Given the description of an element on the screen output the (x, y) to click on. 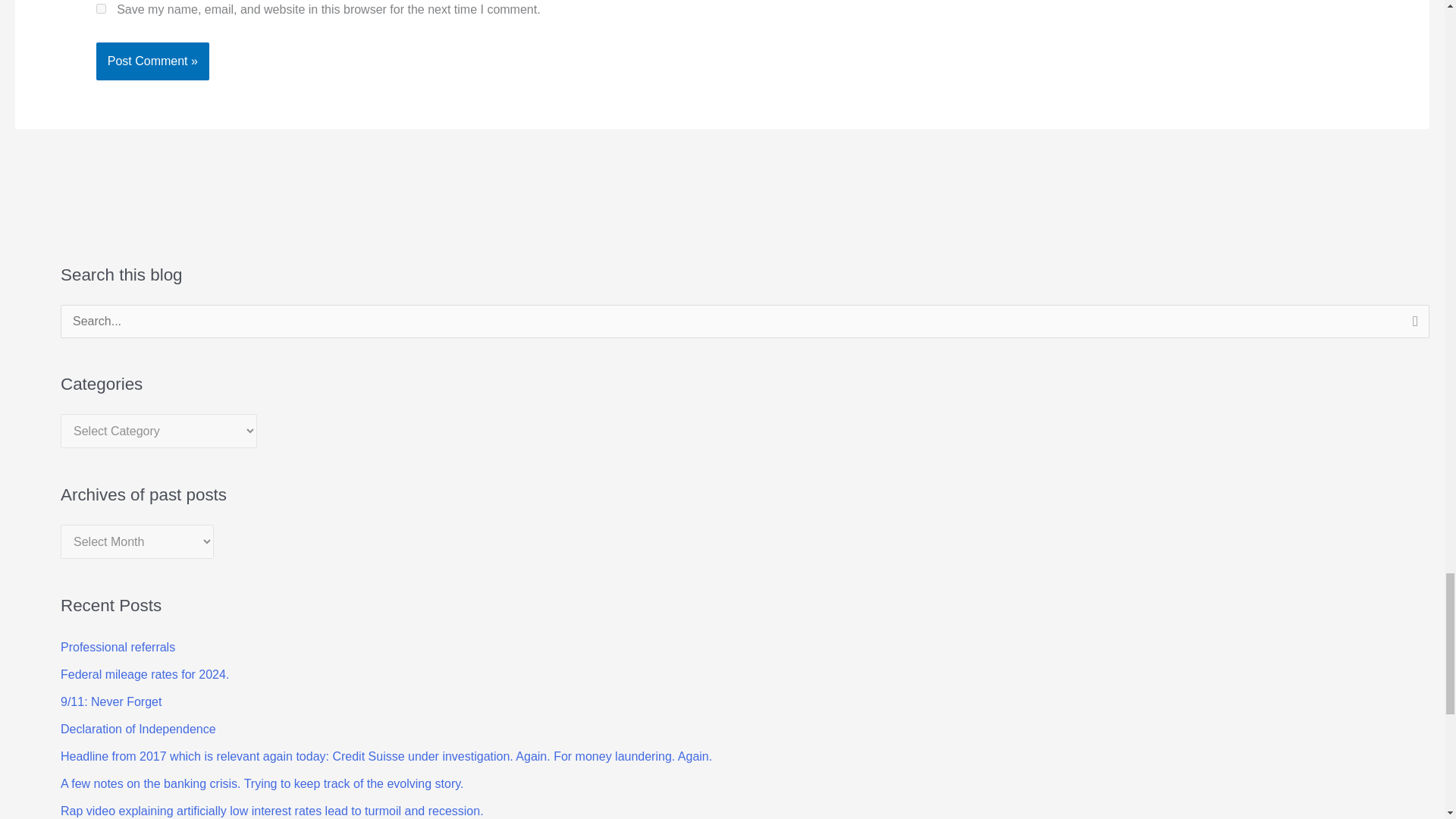
Declaration of Independence (138, 728)
yes (101, 8)
Professional referrals (117, 646)
Federal mileage rates for 2024. (144, 674)
